Given the description of an element on the screen output the (x, y) to click on. 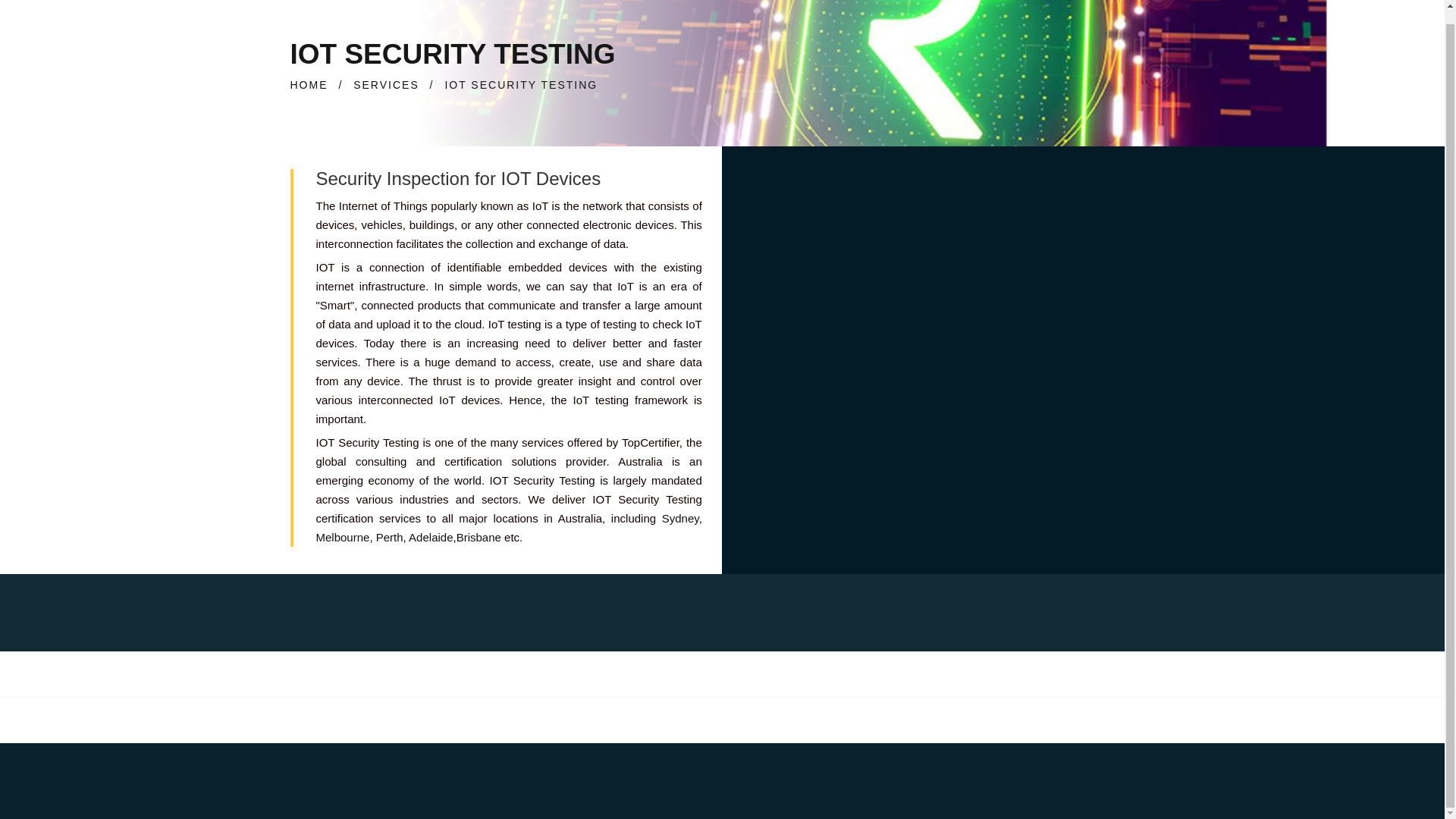
Perth (389, 536)
Adelaide (430, 536)
Melbourne (342, 536)
SERVICES (386, 84)
Sydney (680, 517)
HOME (308, 84)
Brisbane (478, 536)
